Given the description of an element on the screen output the (x, y) to click on. 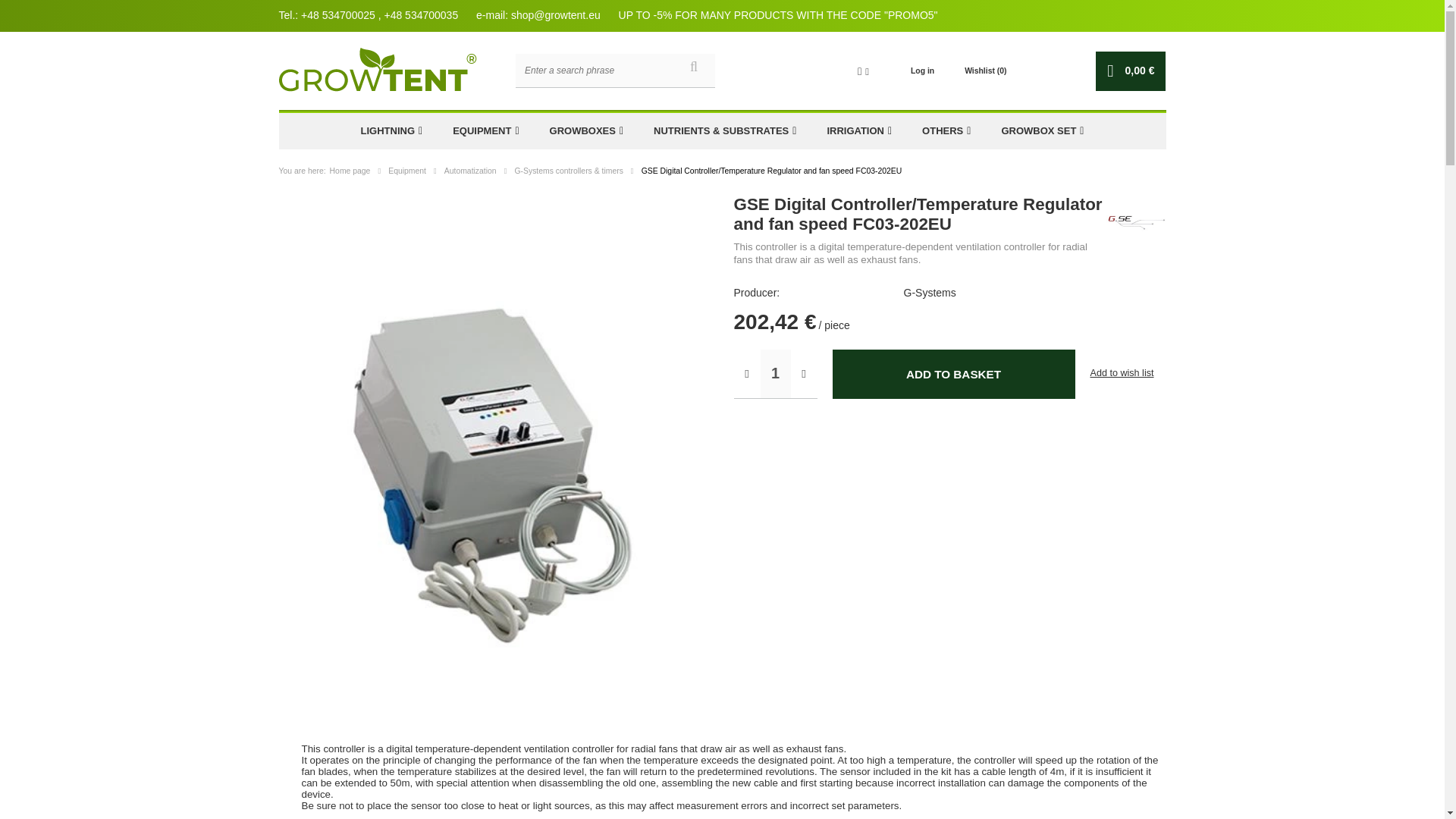
Wishlist 0 (984, 71)
Others (946, 131)
GROWBOX SET (1042, 131)
G-Systems (1136, 223)
Add 1 item to shopping basket (953, 373)
Lightning (392, 131)
Irrigation (858, 131)
LIGHTNING (392, 131)
Add to wish list (1120, 373)
Click to view all products from this producer (1031, 292)
